Given the description of an element on the screen output the (x, y) to click on. 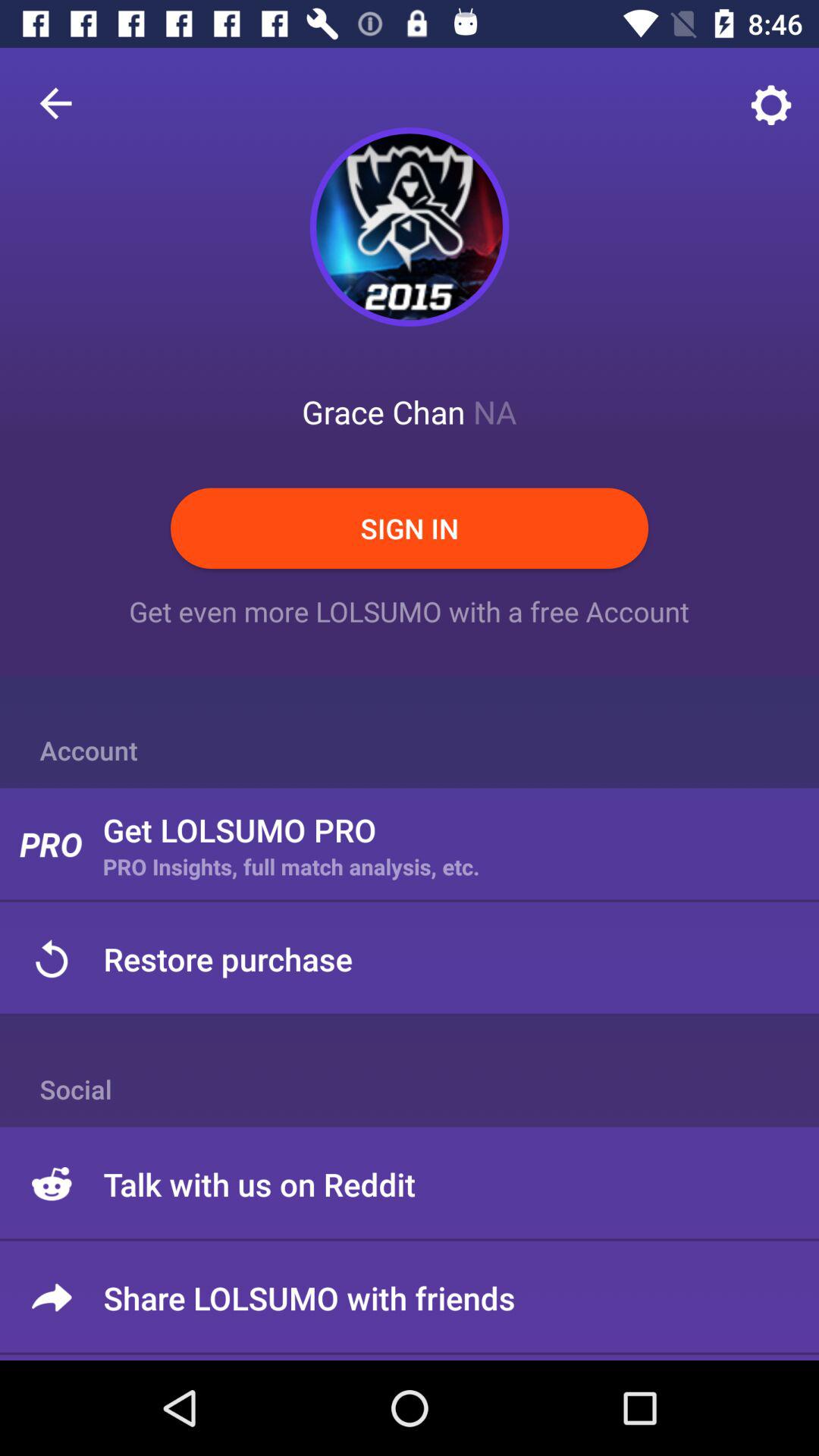
select item at the top left corner (55, 103)
